Given the description of an element on the screen output the (x, y) to click on. 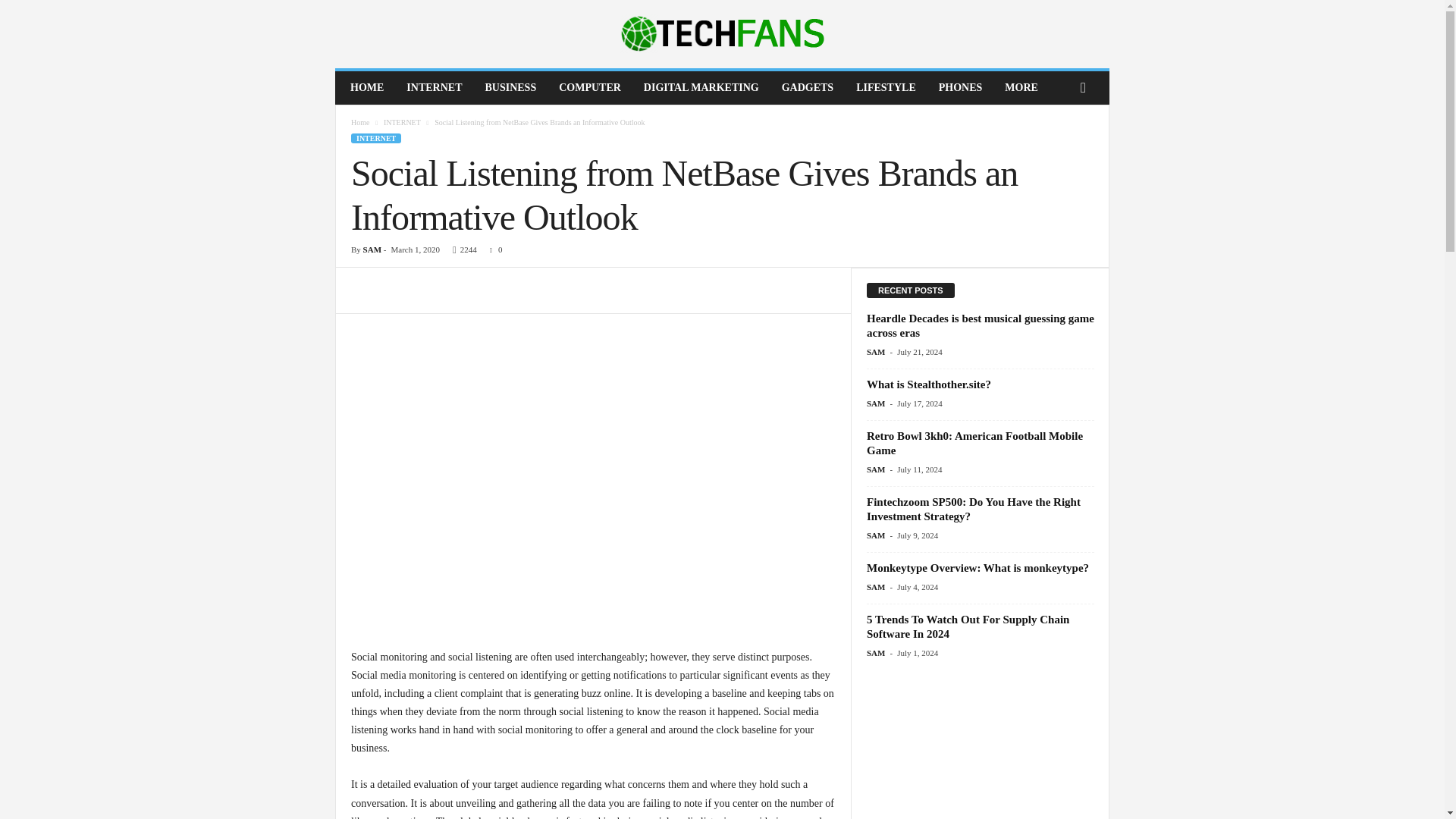
DIGITAL MARKETING (700, 87)
COMPUTER (589, 87)
PHONES (960, 87)
MORE (1020, 87)
GADGETS (807, 87)
BUSINESS (510, 87)
TechFans.net (721, 33)
View all posts in INTERNET (402, 121)
INTERNET (433, 87)
HOME (366, 87)
